Given the description of an element on the screen output the (x, y) to click on. 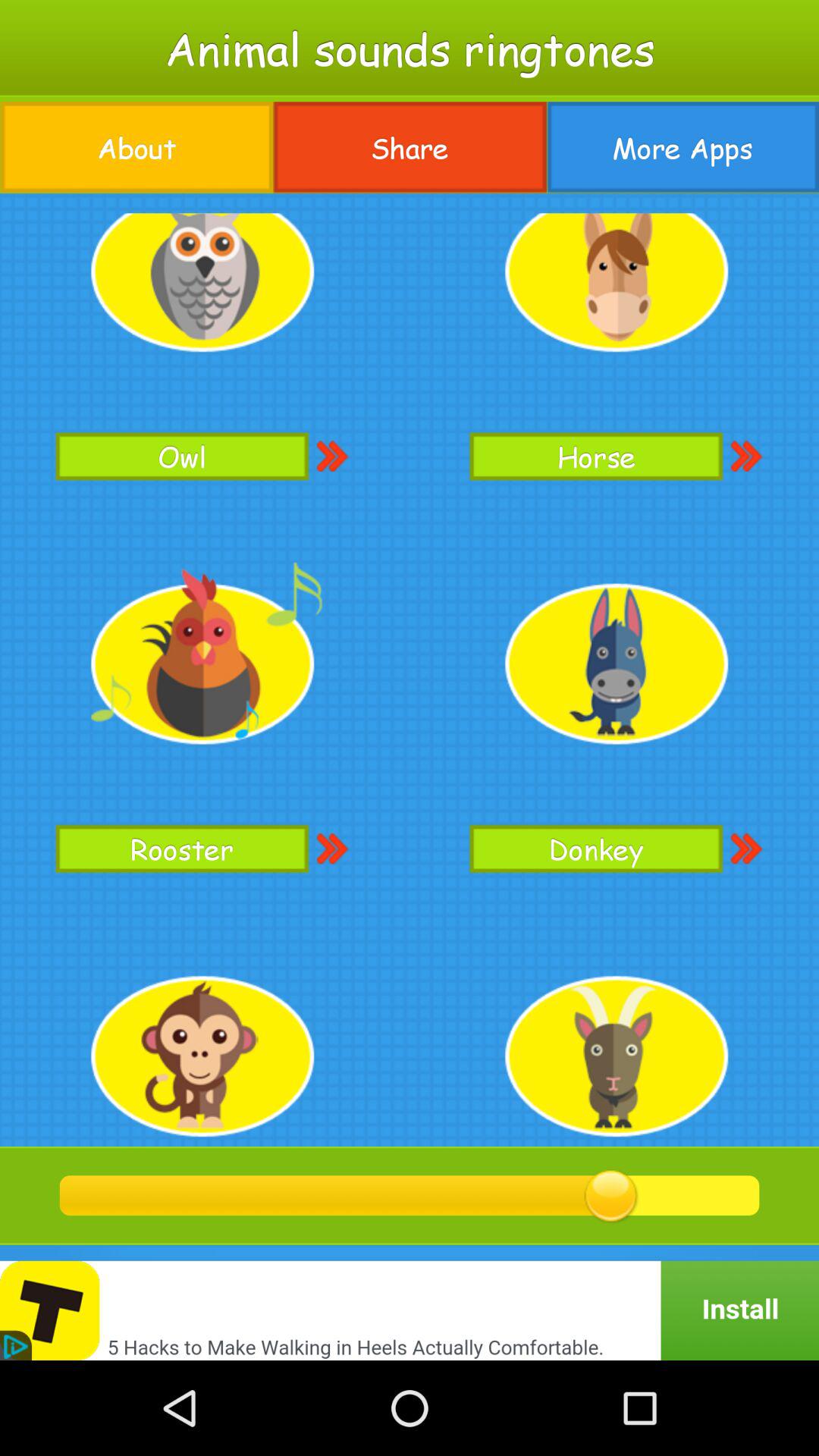
turn on more apps item (682, 147)
